Given the description of an element on the screen output the (x, y) to click on. 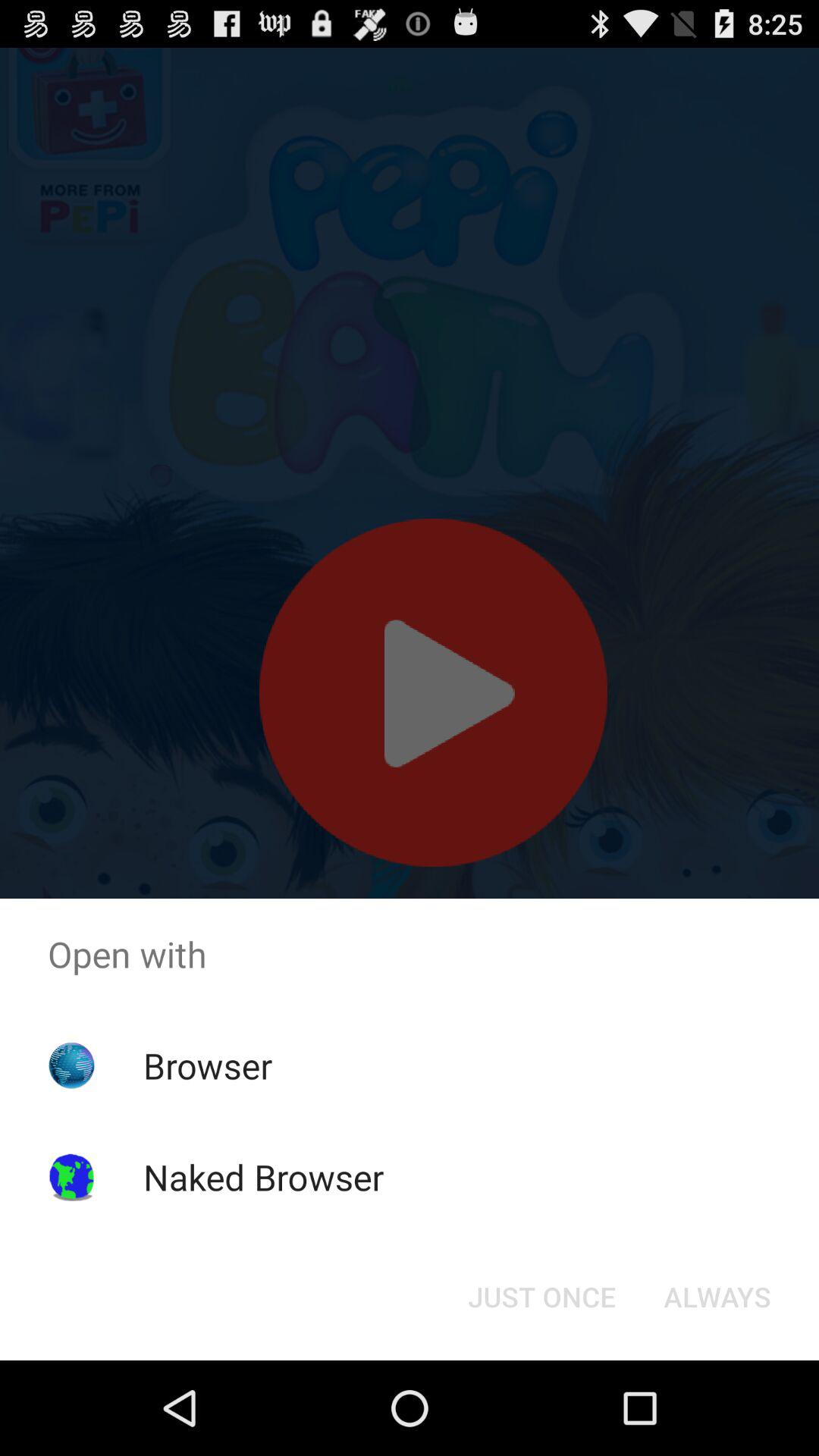
swipe until the always (717, 1296)
